Given the description of an element on the screen output the (x, y) to click on. 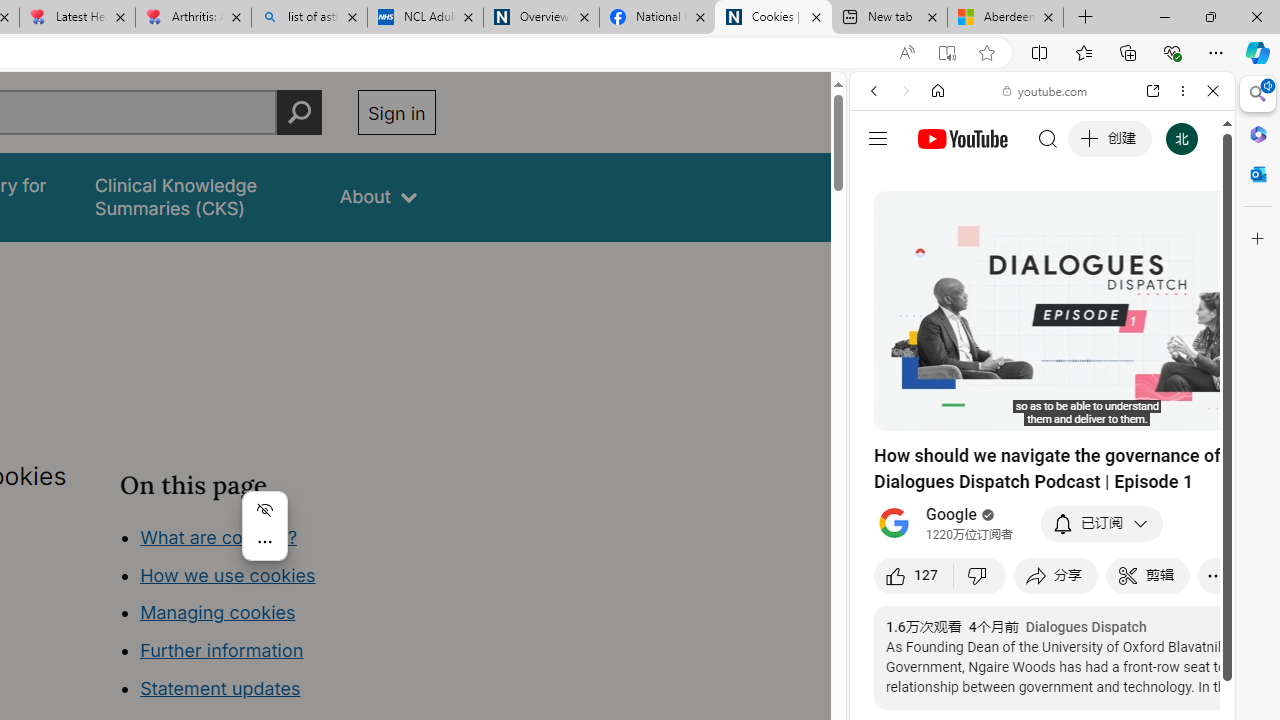
Show More Music (1164, 546)
What are cookies? (218, 536)
